Given the description of an element on the screen output the (x, y) to click on. 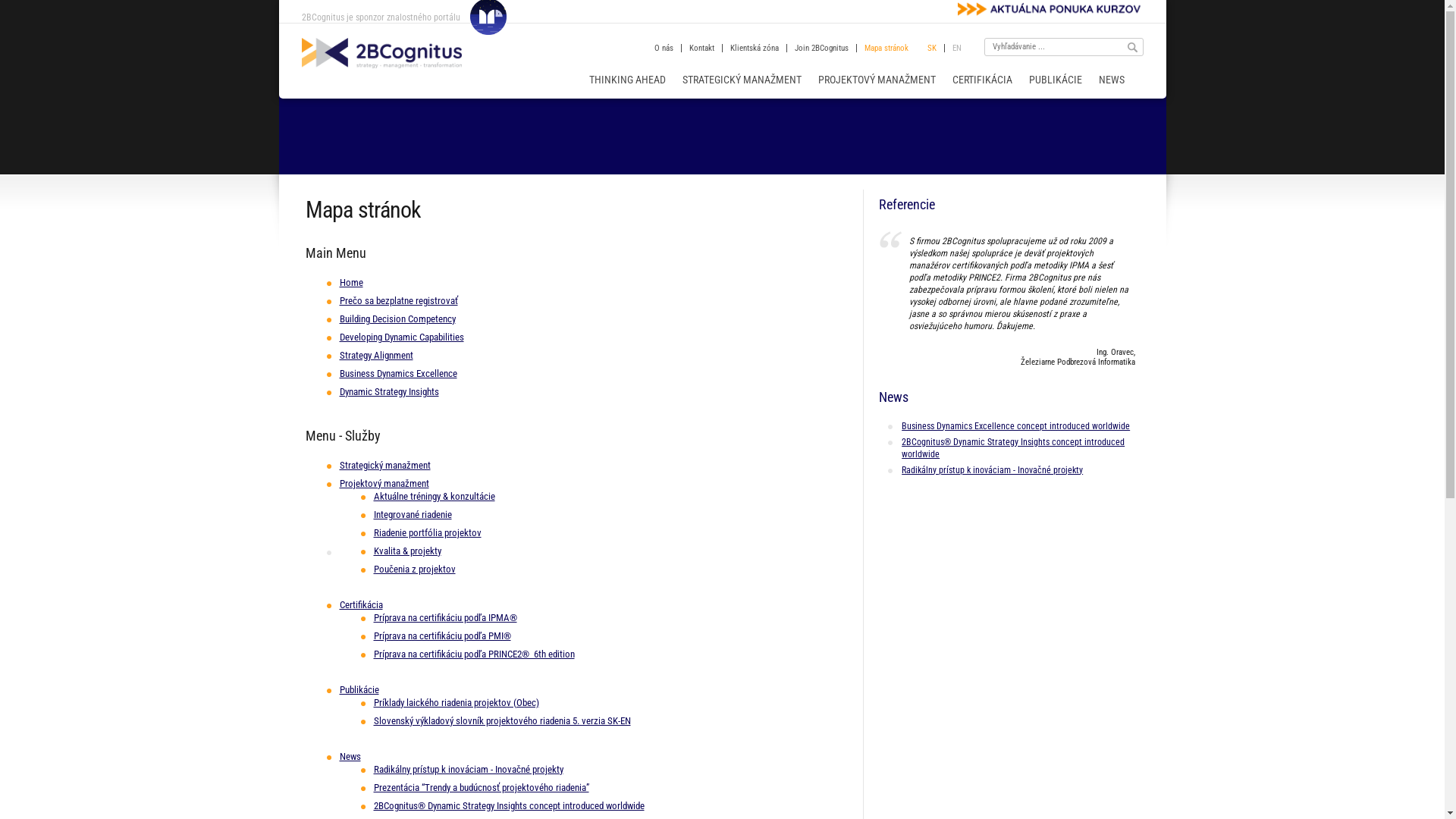
News Element type: text (349, 756)
Join 2BCognitus Element type: text (821, 47)
EN Element type: text (956, 48)
MANAGERPORT Element type: hover (484, 17)
Developing Dynamic Capabilities Element type: text (401, 336)
THINKING AHEAD Element type: text (626, 79)
NEWS Element type: text (1110, 79)
Strategy Alignment Element type: text (376, 354)
SK Element type: text (930, 48)
Home Element type: text (351, 282)
Business Dynamics Excellence Element type: text (398, 373)
Dynamic Strategy Insights Element type: text (389, 391)
Building Decision Competency Element type: text (397, 318)
2BCognitus Element type: hover (381, 52)
Kontakt Element type: text (700, 47)
Business Dynamics Excellence concept introduced worldwide Element type: text (1006, 426)
Kvalita & projekty Element type: text (406, 550)
